Given the description of an element on the screen output the (x, y) to click on. 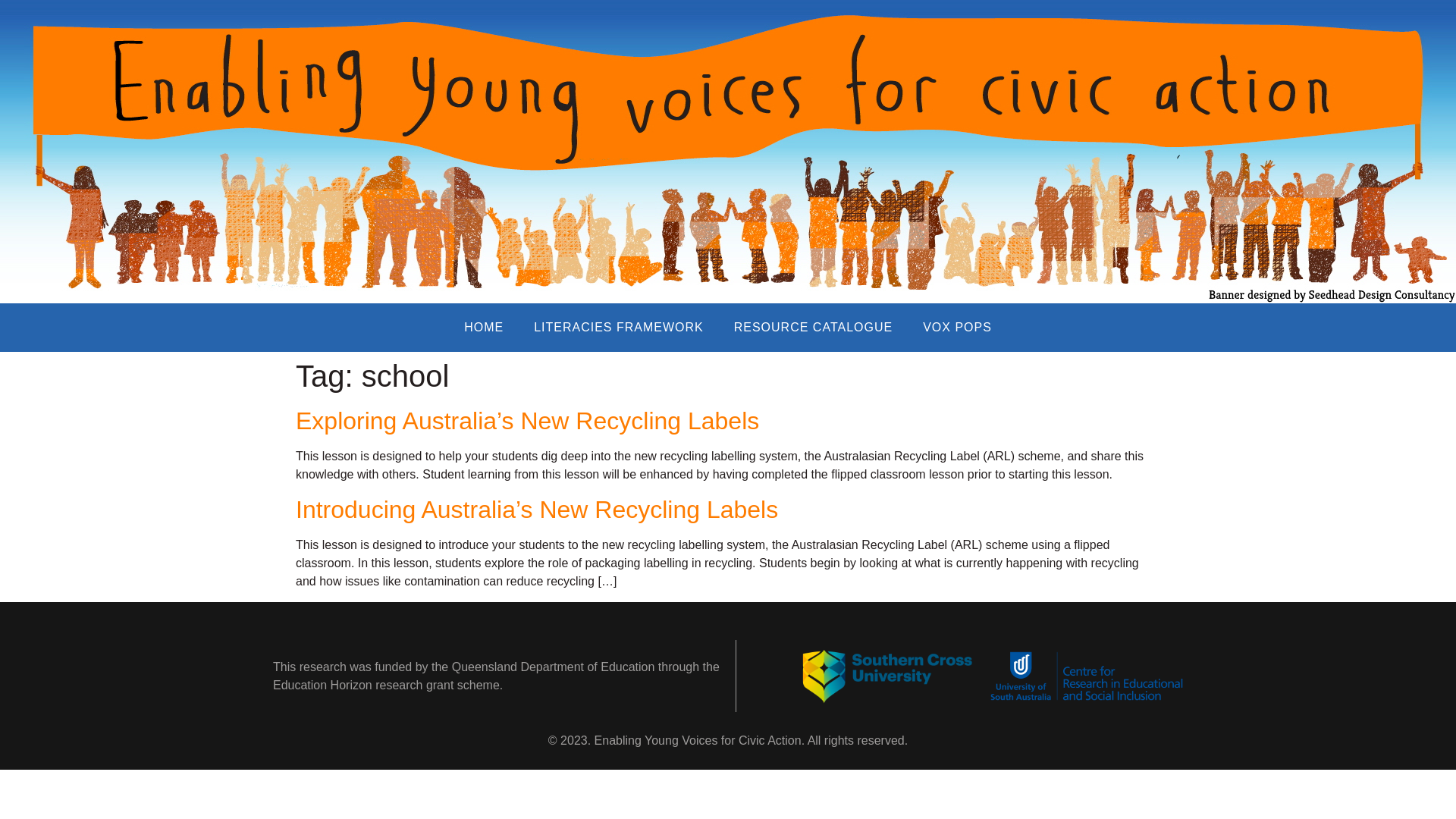
HOME (483, 327)
VOX POPS (957, 327)
LITERACIES FRAMEWORK (618, 327)
RESOURCE CATALOGUE (813, 327)
